Given the description of an element on the screen output the (x, y) to click on. 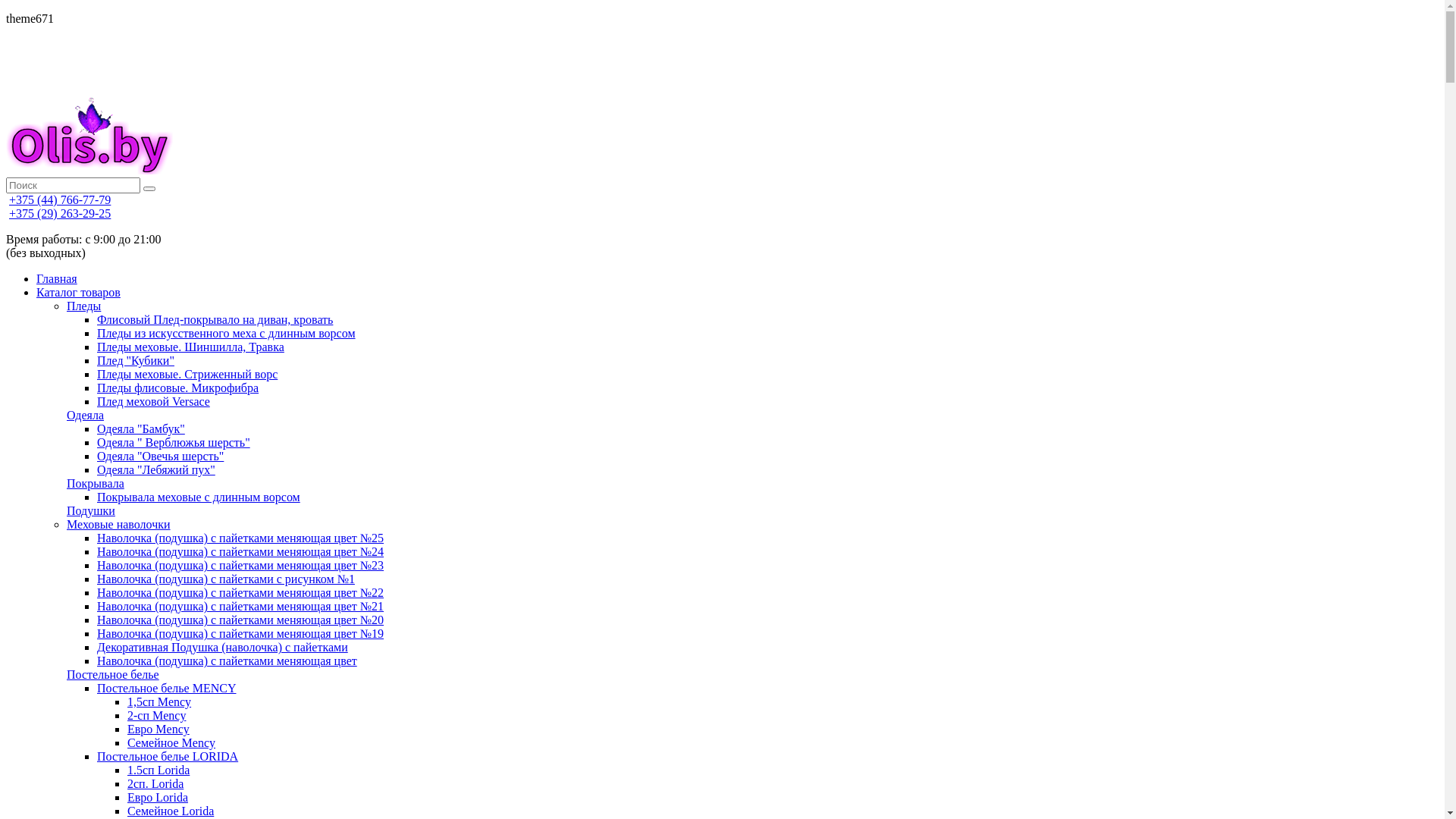
+375 (44) 766-77-79 Element type: text (59, 199)
+375 (29) 263-29-25 Element type: text (59, 213)
